Given the description of an element on the screen output the (x, y) to click on. 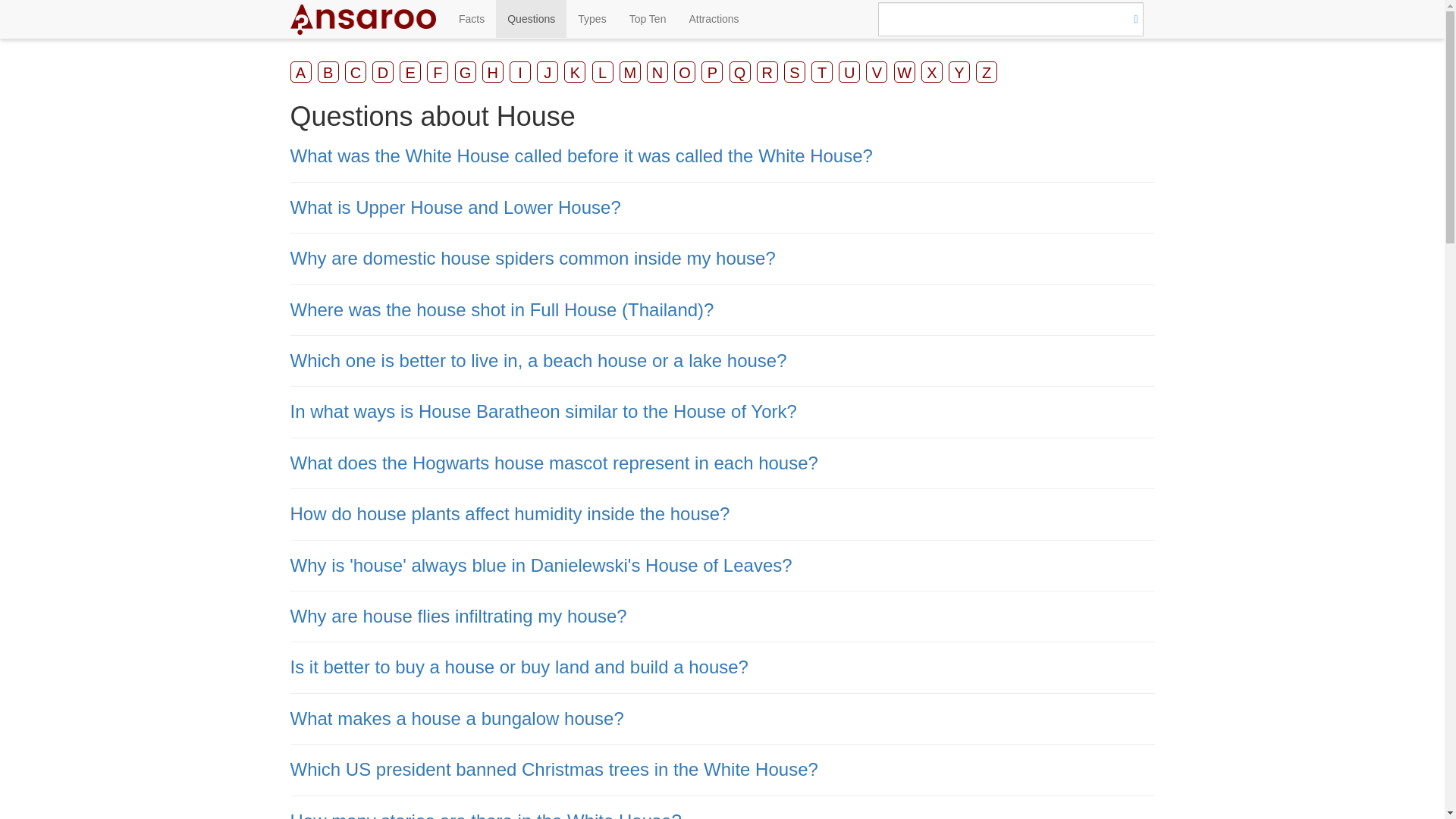
F (437, 71)
G (465, 71)
V (876, 71)
C (355, 71)
S (794, 71)
Facts (471, 18)
Top Ten (647, 18)
E (409, 71)
P (711, 71)
What is Upper House and Lower House? (454, 207)
